Given the description of an element on the screen output the (x, y) to click on. 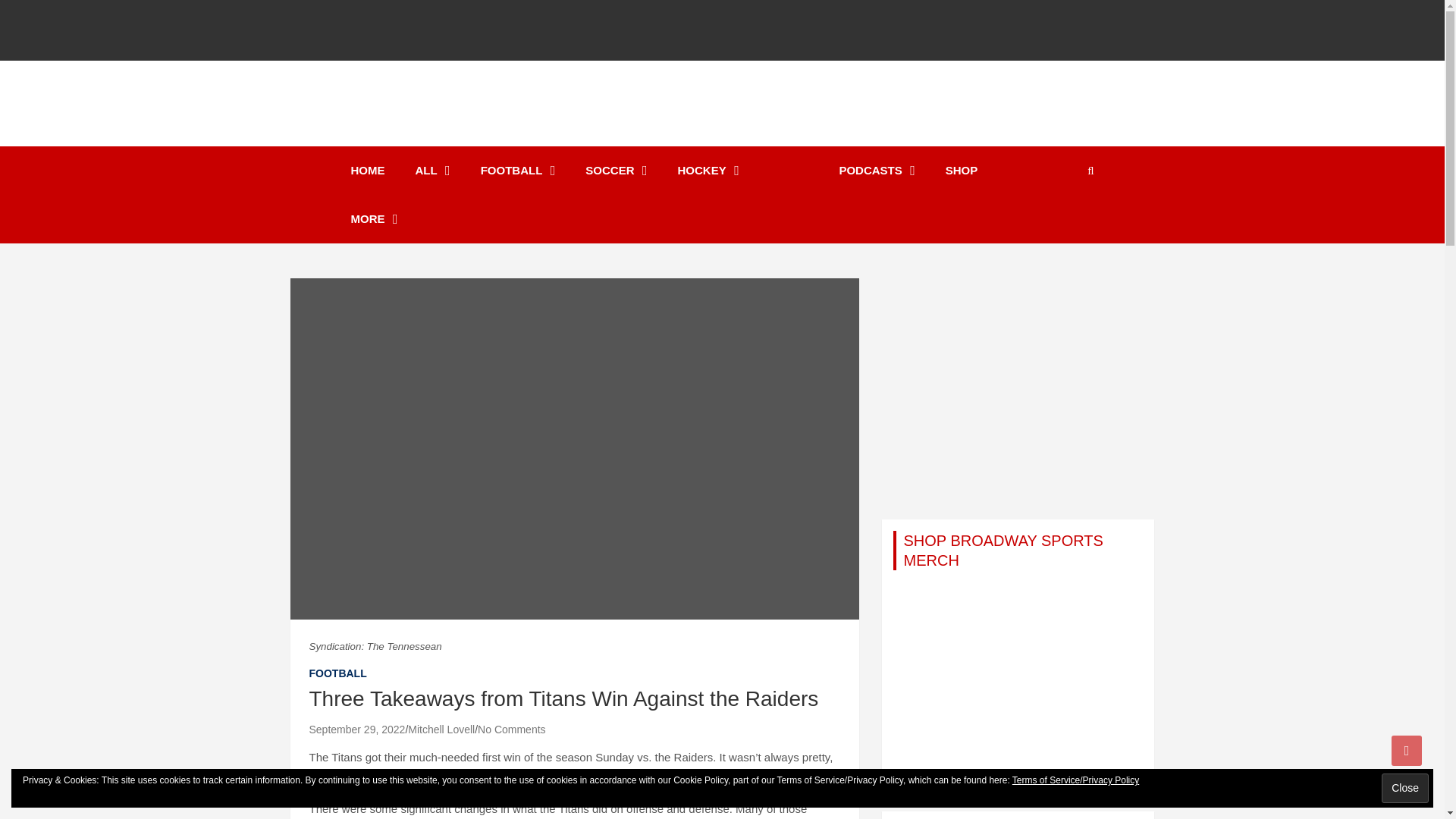
Go to Top (1406, 750)
HOME (366, 170)
Three Takeaways from Titans Win Against the Raiders (357, 729)
FOOTBALL (517, 170)
ALL (432, 170)
Close (1404, 788)
